Given the description of an element on the screen output the (x, y) to click on. 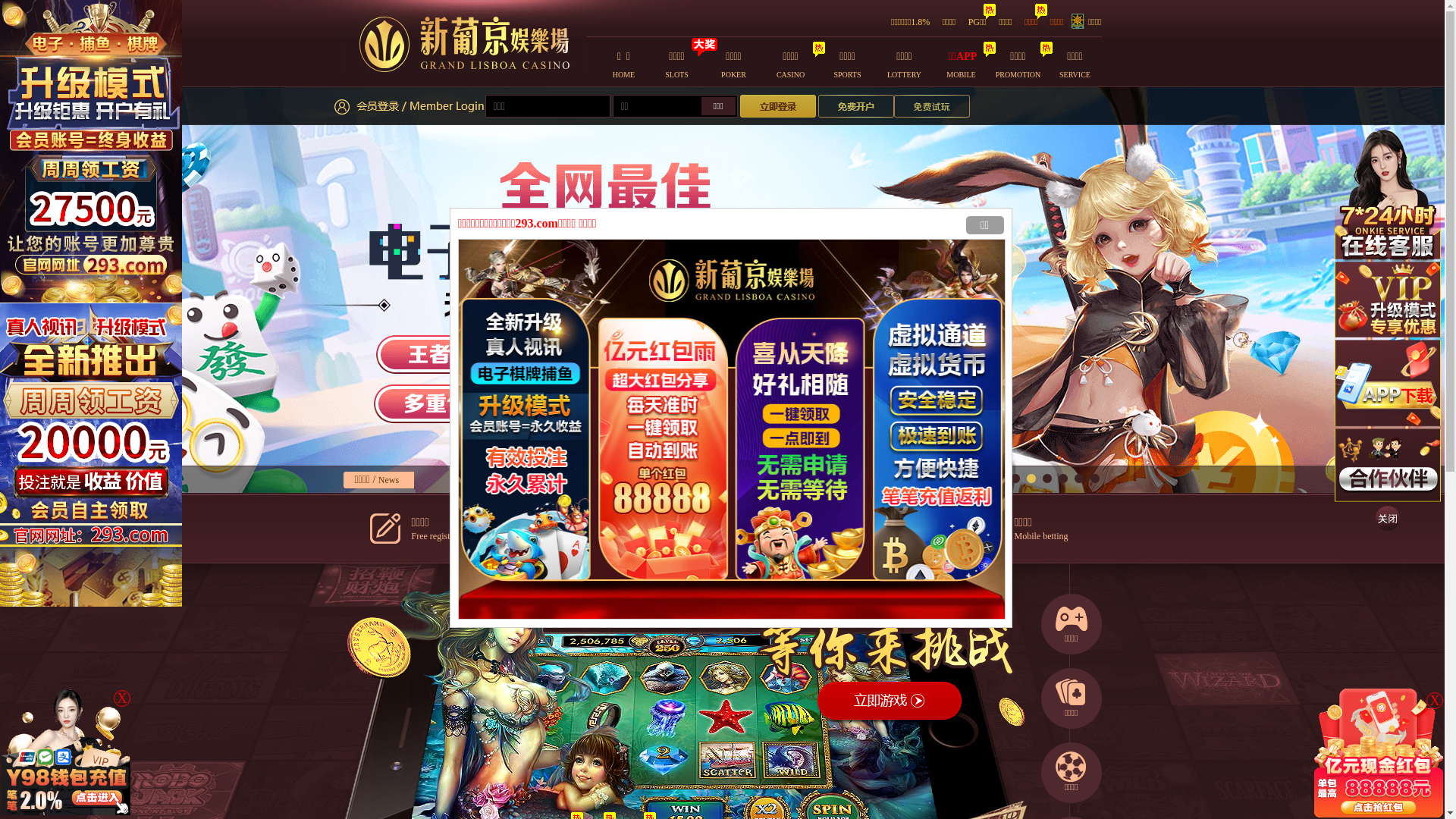
X Element type: text (1434, 700)
X Element type: text (121, 698)
